Given the description of an element on the screen output the (x, y) to click on. 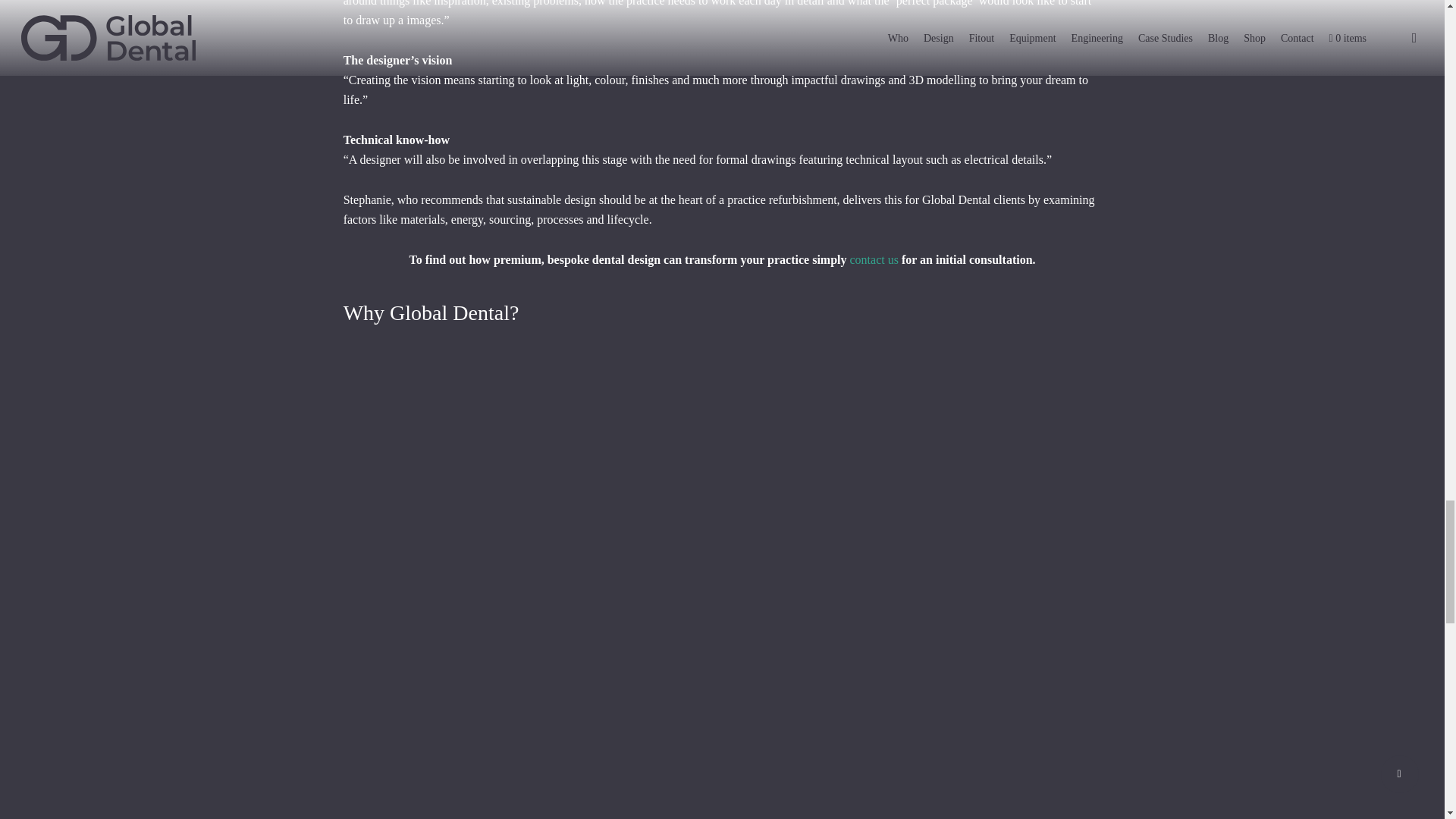
contact us (874, 259)
